Given the description of an element on the screen output the (x, y) to click on. 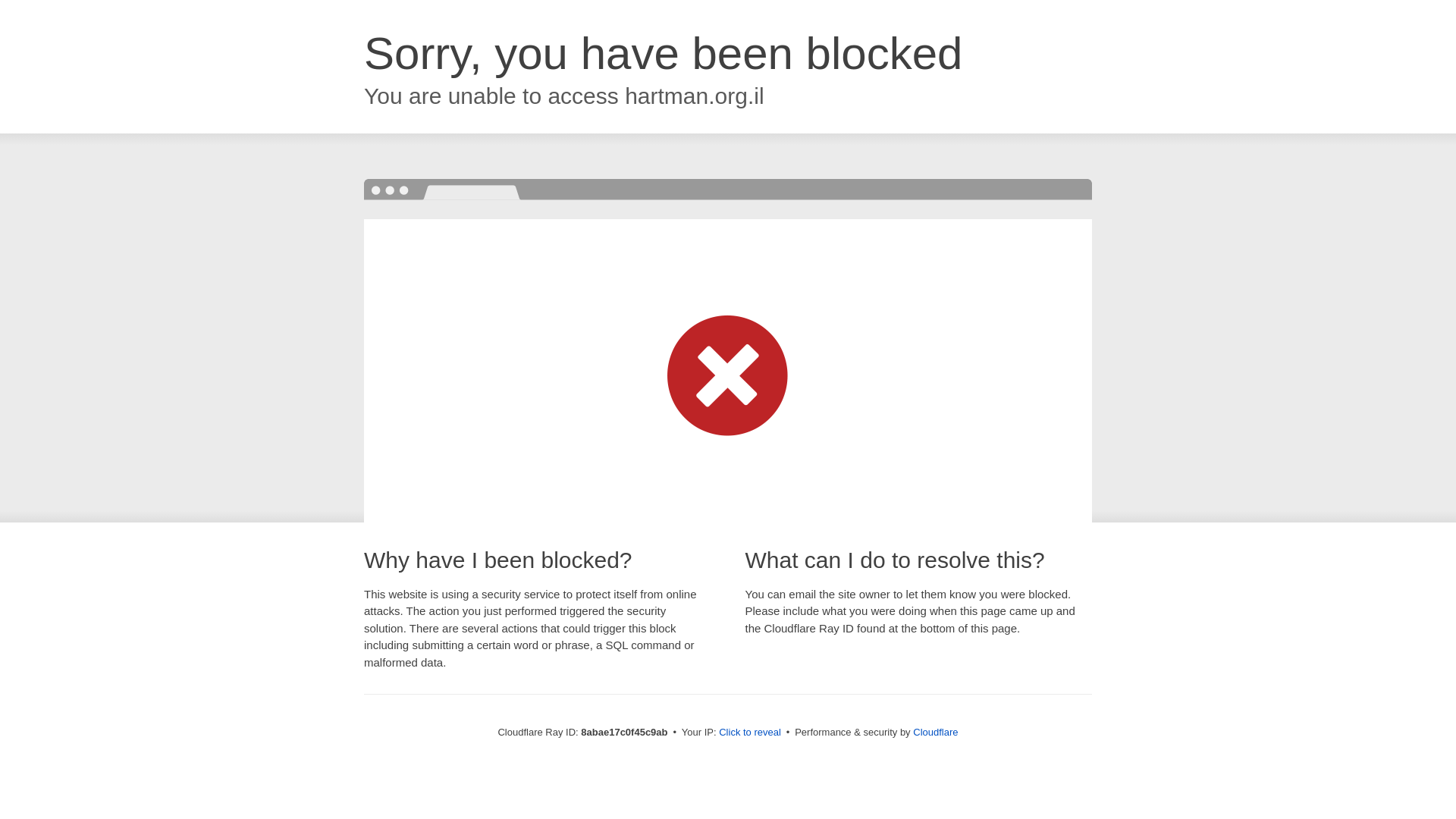
Click to reveal (749, 732)
Cloudflare (935, 731)
